Given the description of an element on the screen output the (x, y) to click on. 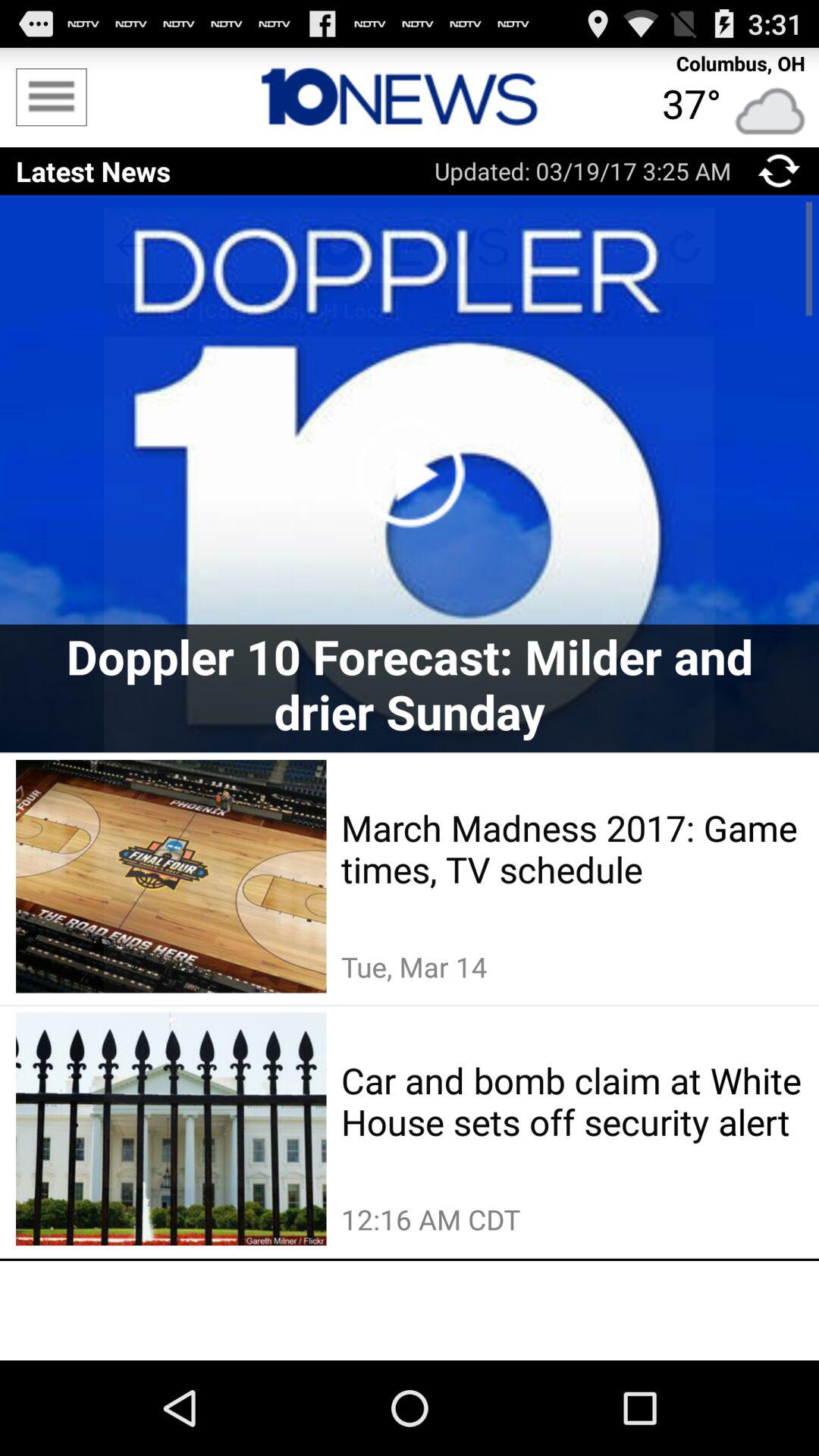
tap the item above 12 16 am item (572, 1100)
